Given the description of an element on the screen output the (x, y) to click on. 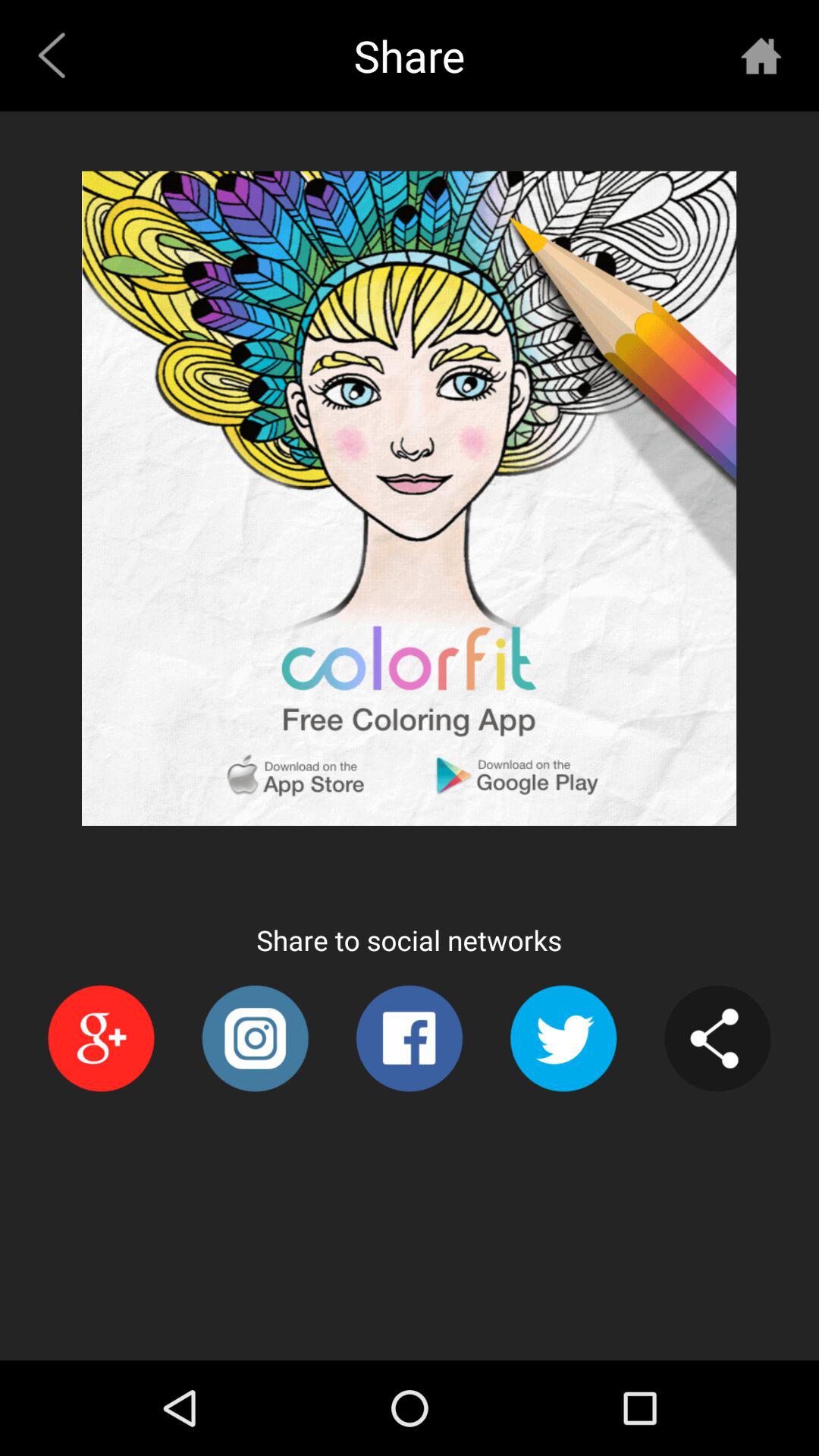
choose item below share to social item (255, 1038)
